Given the description of an element on the screen output the (x, y) to click on. 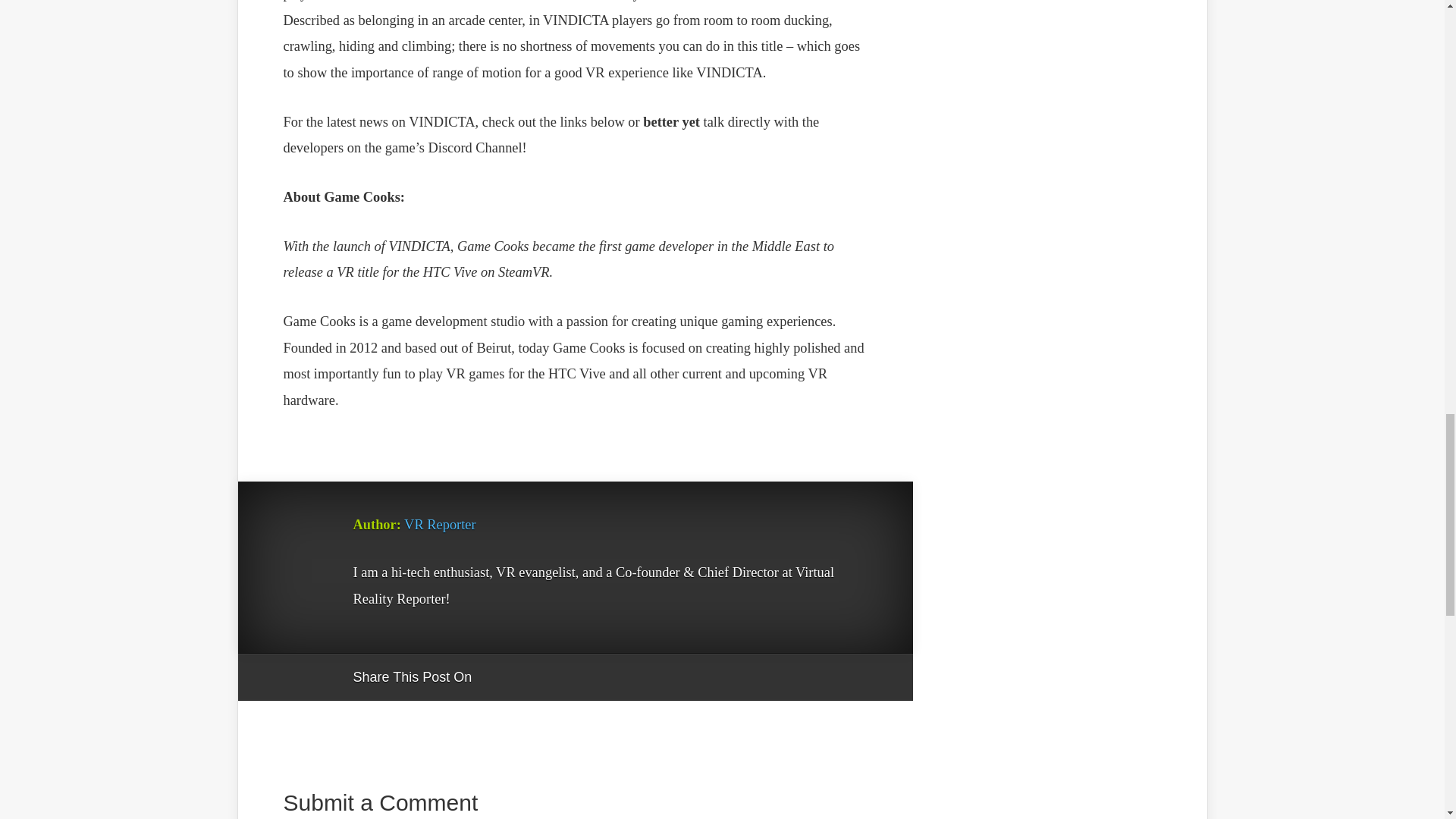
Google (498, 677)
Twitter (555, 677)
Facebook (526, 677)
VR Reporter (440, 524)
